Given the description of an element on the screen output the (x, y) to click on. 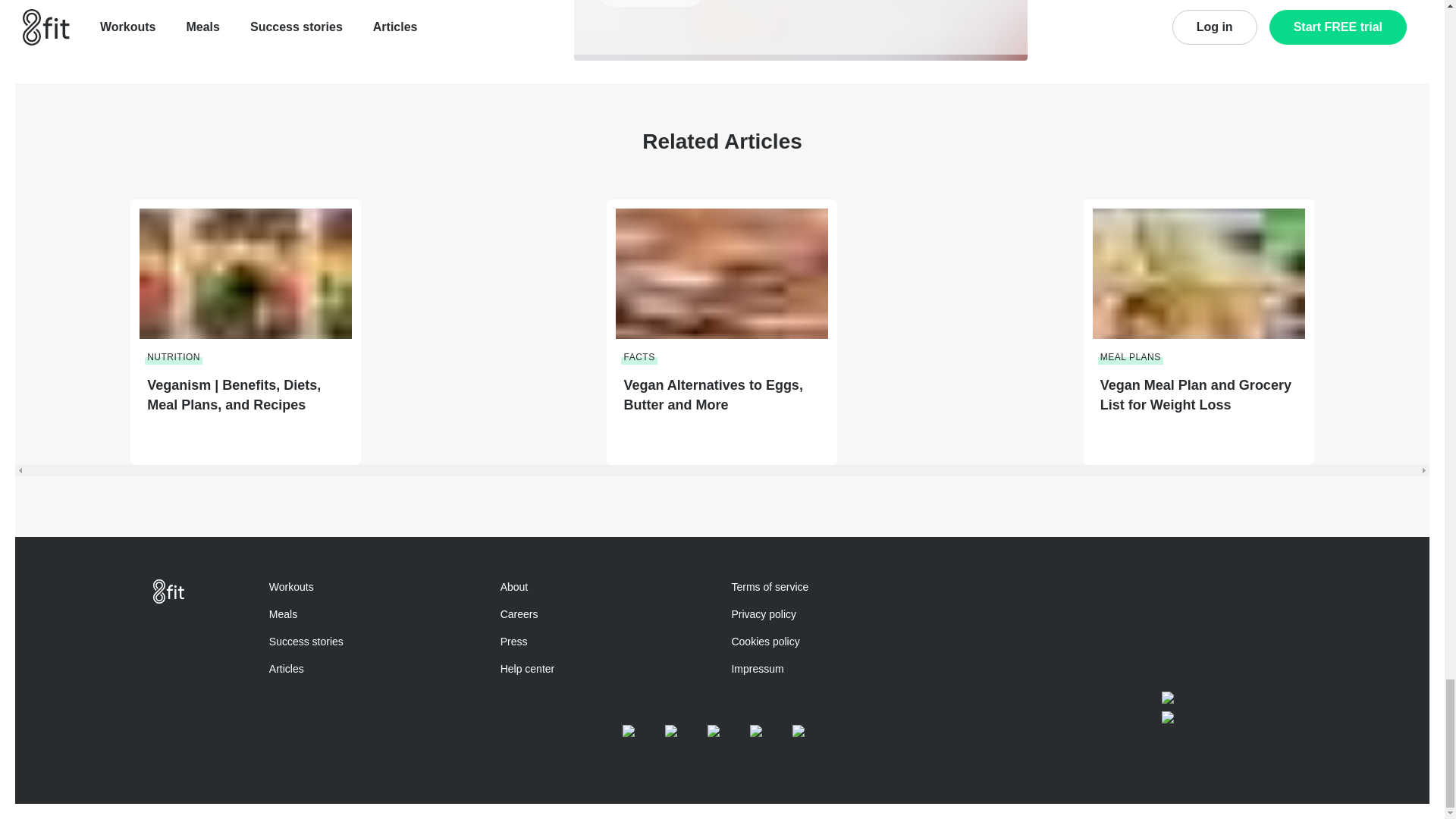
Subscribe (649, 3)
Subscribe (649, 3)
